Given the description of an element on the screen output the (x, y) to click on. 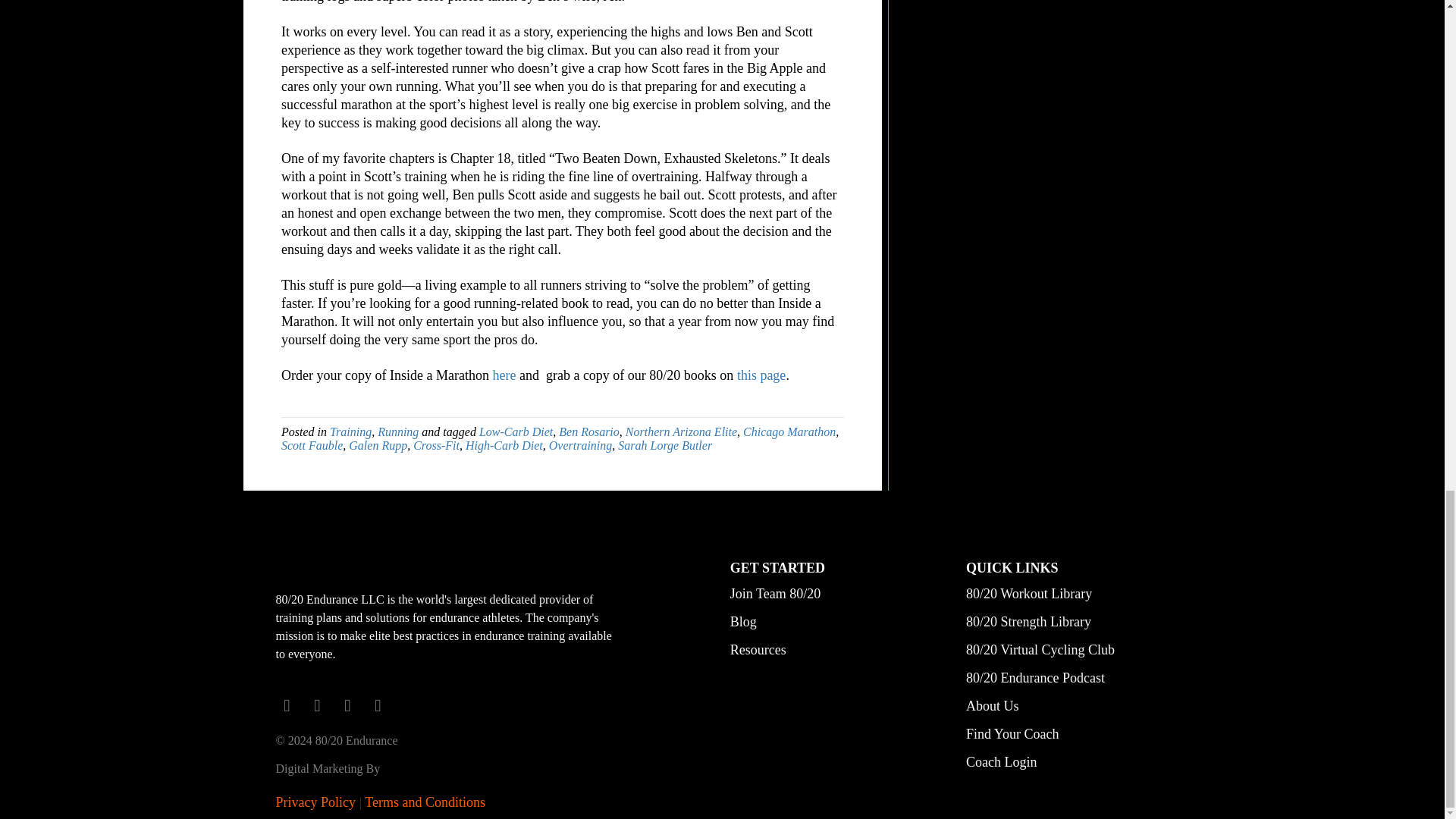
Training (350, 431)
here (503, 375)
Group 2 (389, 570)
this page (761, 375)
Terms and Conditions  (424, 801)
Privacy Policy (316, 801)
Running (398, 431)
